Given the description of an element on the screen output the (x, y) to click on. 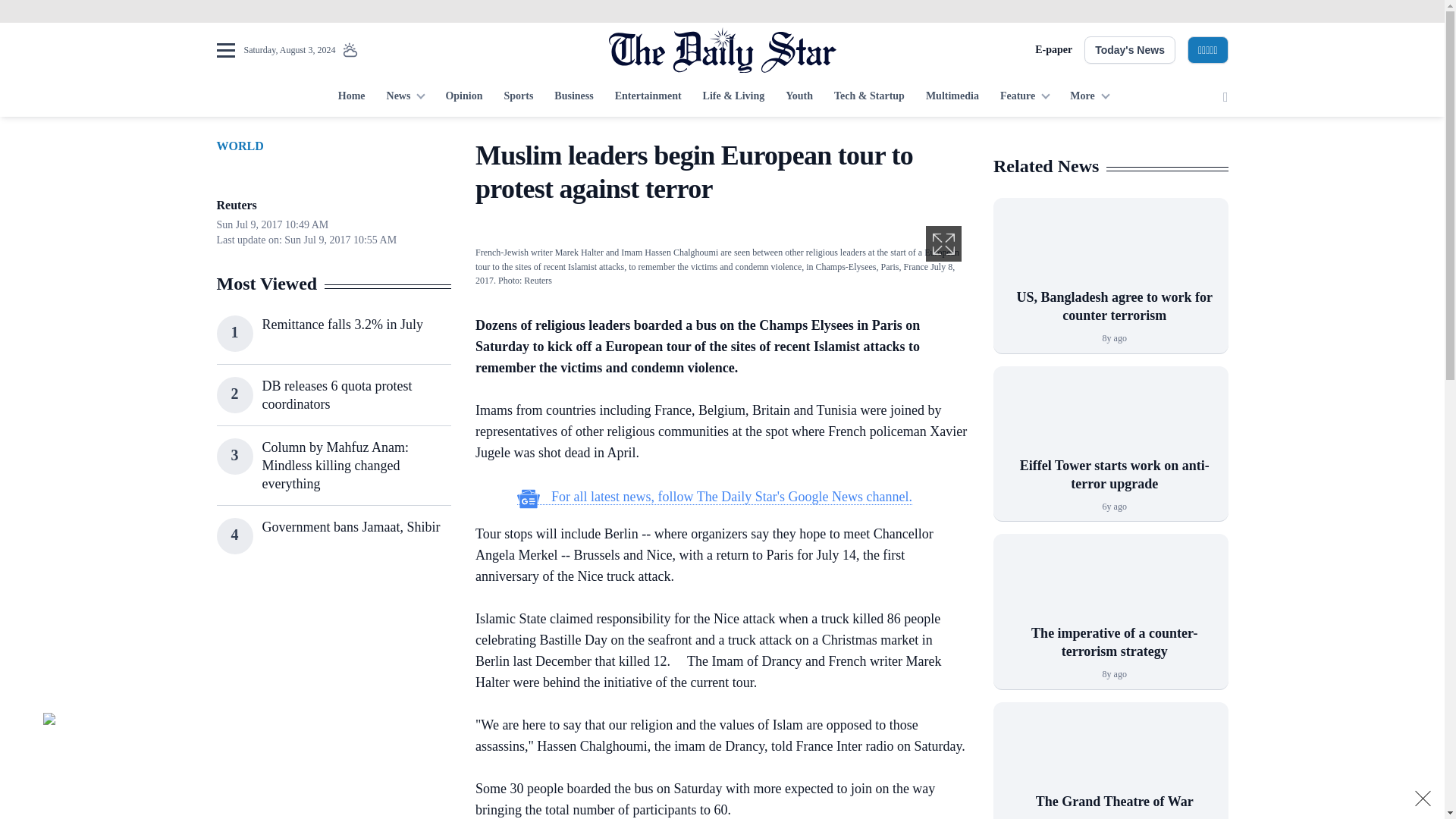
Business (573, 96)
News (405, 96)
E-paper (1053, 49)
Today's News (1129, 49)
Multimedia (952, 96)
Feature (1024, 96)
Entertainment (647, 96)
Home (351, 96)
Sports (518, 96)
